Given the description of an element on the screen output the (x, y) to click on. 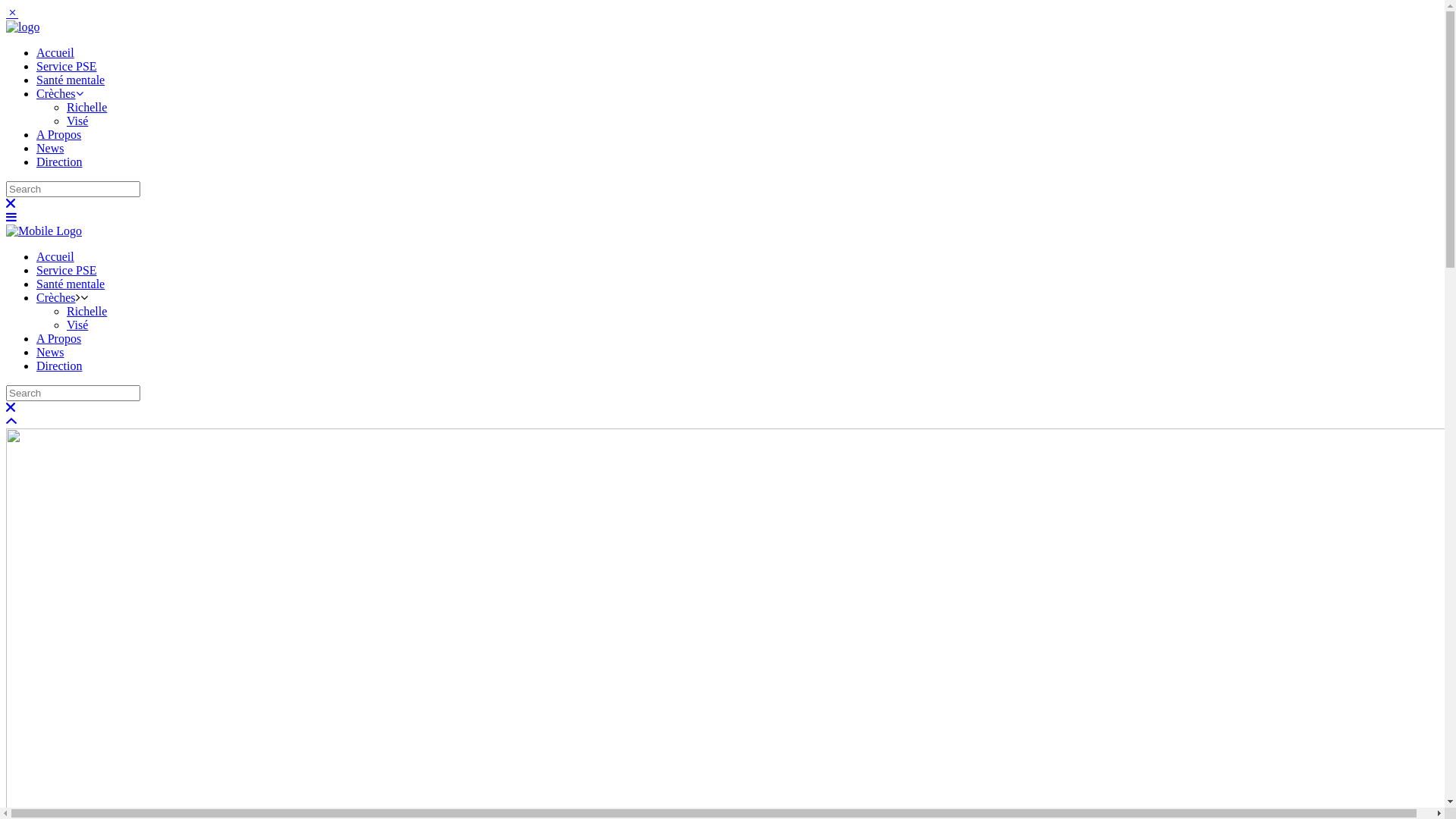
Service PSE Element type: text (66, 269)
A Propos Element type: text (58, 134)
A Propos Element type: text (58, 338)
News Element type: text (49, 147)
Direction Element type: text (58, 161)
Direction Element type: text (58, 365)
Richelle Element type: text (86, 106)
Accueil Element type: text (55, 52)
News Element type: text (49, 351)
Accueil Element type: text (55, 256)
Richelle Element type: text (86, 310)
Service PSE Element type: text (66, 65)
